Given the description of an element on the screen output the (x, y) to click on. 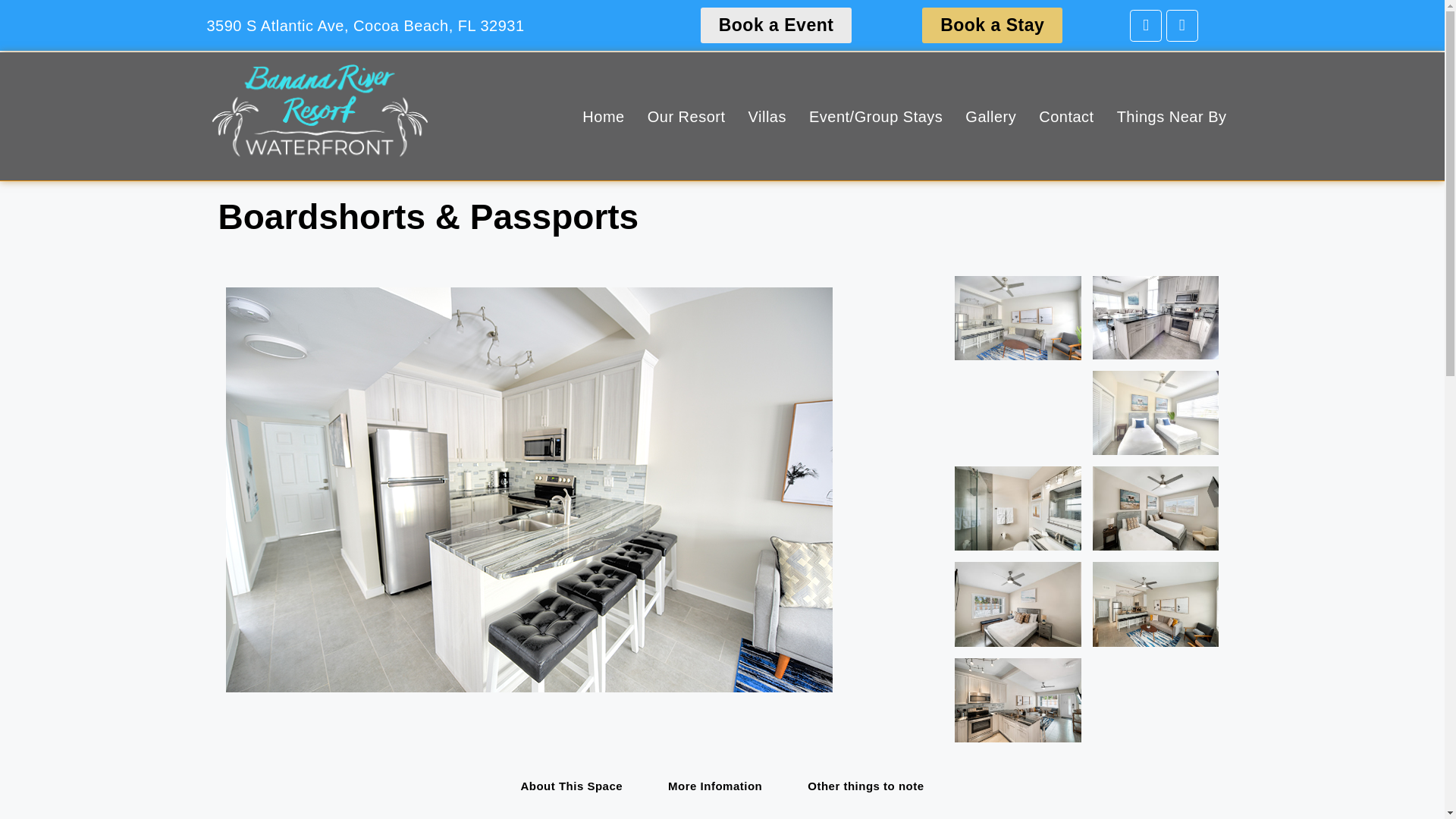
Contact (1066, 116)
Things Near By (1172, 116)
Our Resort (686, 116)
Home (602, 116)
Gallery (990, 116)
Villas (766, 116)
Book a Event (775, 25)
Book a Stay (991, 25)
